Given the description of an element on the screen output the (x, y) to click on. 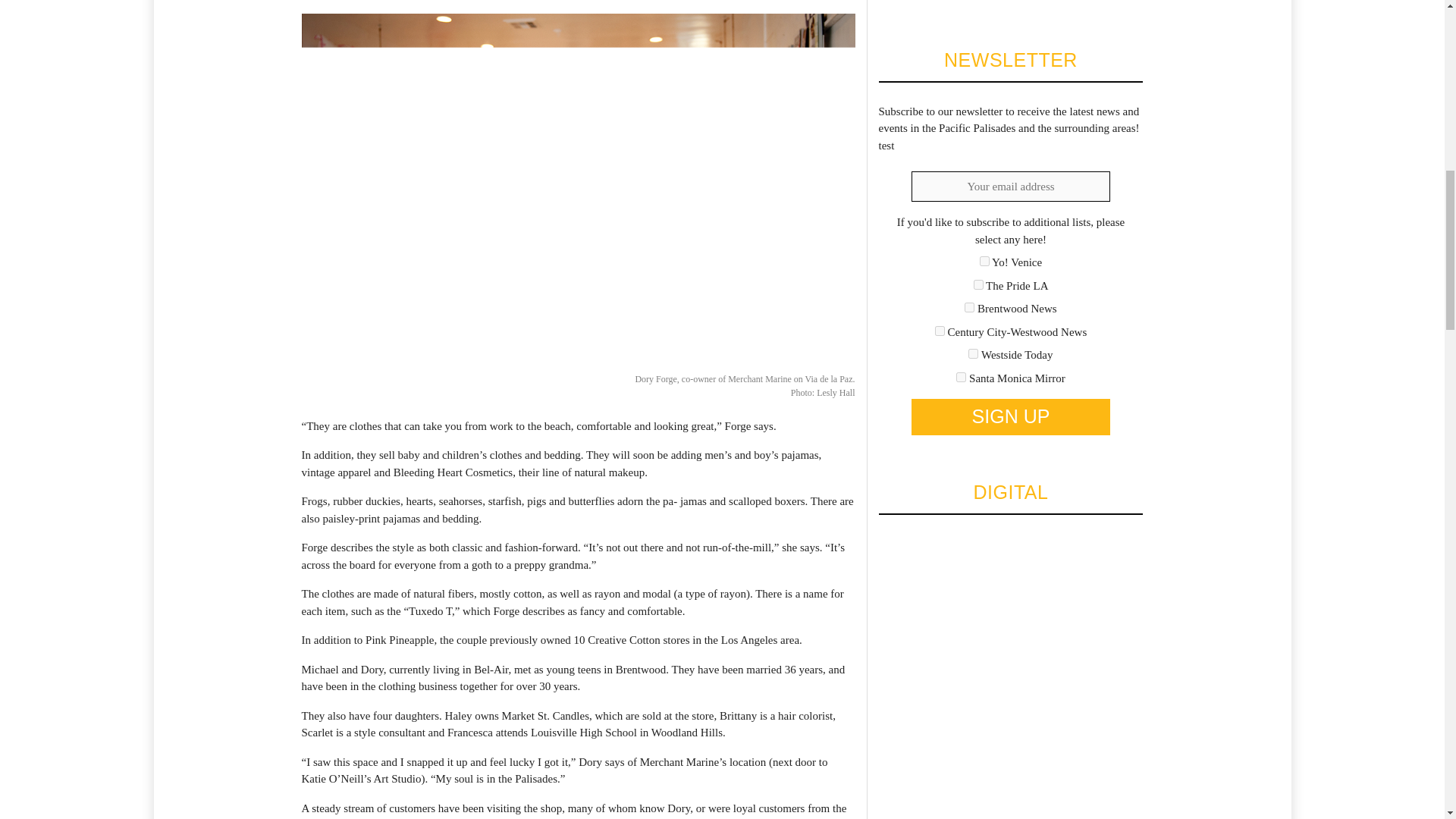
382281a661 (968, 307)
Page 11 (578, 702)
a3d1b6d535 (973, 353)
33f79e7e4d (979, 284)
2c616d28b5 (984, 261)
5fac618226 (939, 330)
Page 11 (578, 763)
3rd party ad content (991, 1)
d0b5733862 (961, 377)
Sign up (1010, 416)
